Given the description of an element on the screen output the (x, y) to click on. 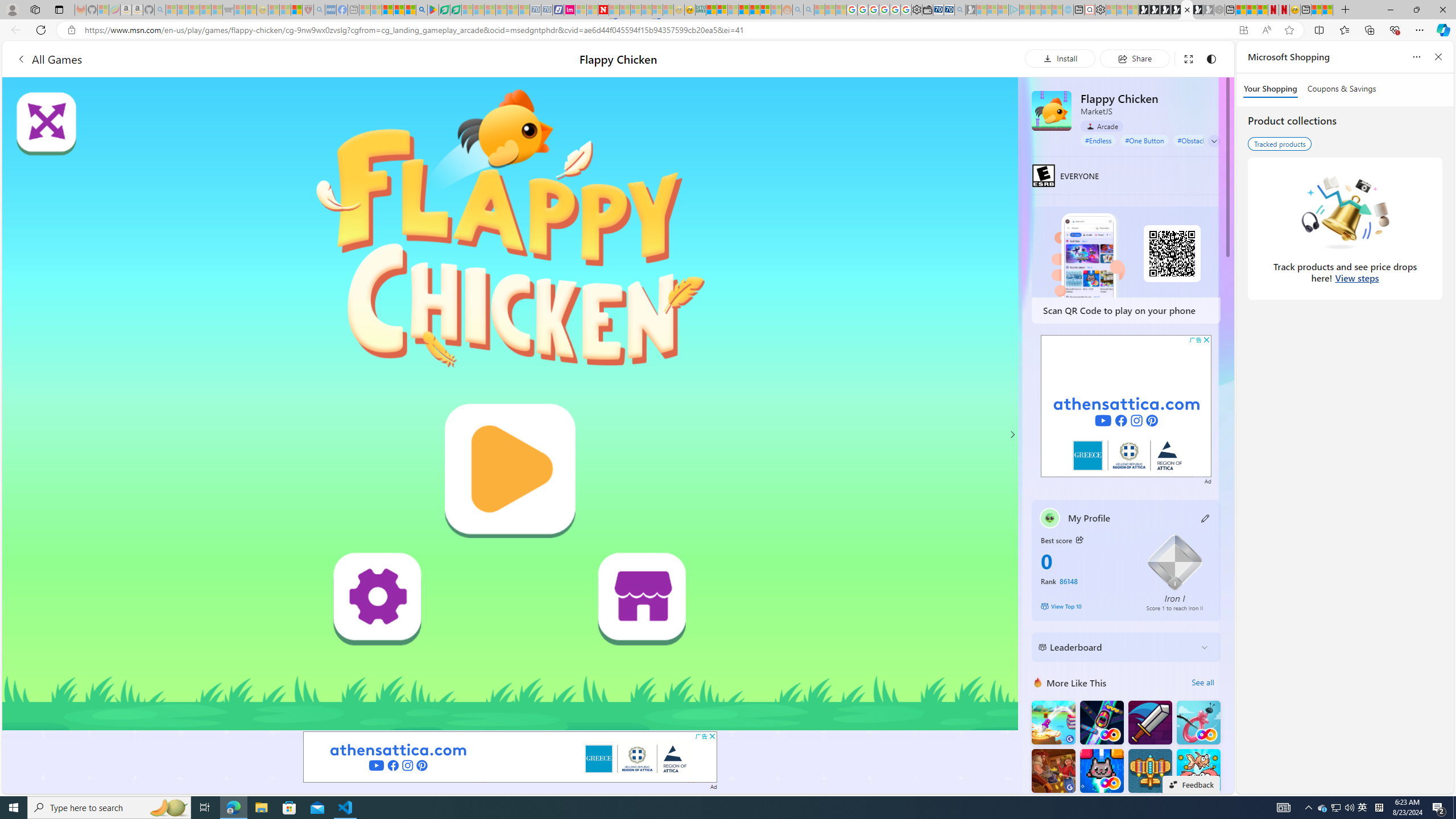
Full screen (1187, 58)
Share (1134, 58)
#Endless (1098, 140)
Atlantic Sky Hunter (1149, 770)
App available. Install Flappy Chicken (1243, 29)
Class: control (1214, 140)
Bluey: Let's Play! - Apps on Google Play (433, 9)
